Given the description of an element on the screen output the (x, y) to click on. 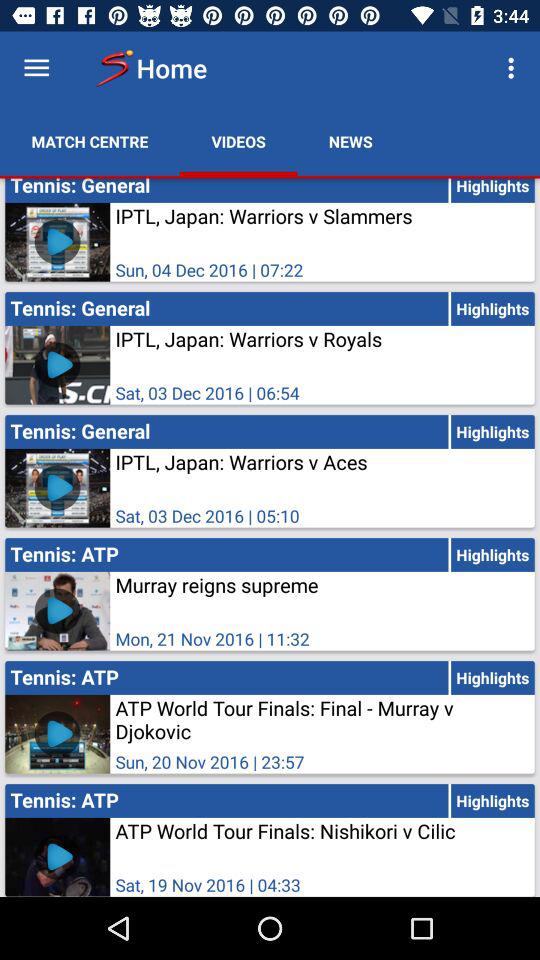
tap app next to news icon (238, 141)
